Given the description of an element on the screen output the (x, y) to click on. 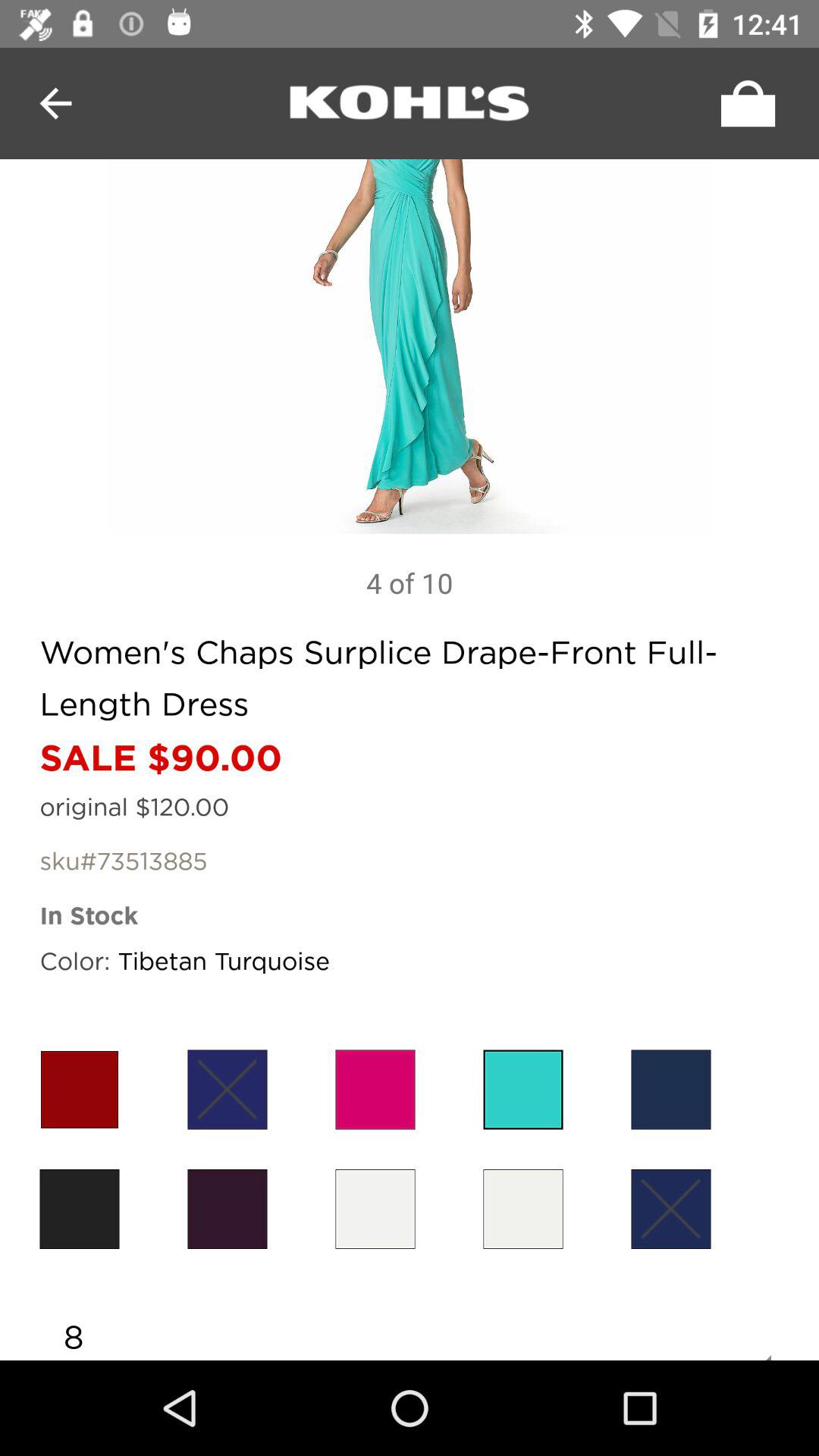
turn on item above 8 (375, 1208)
